Given the description of an element on the screen output the (x, y) to click on. 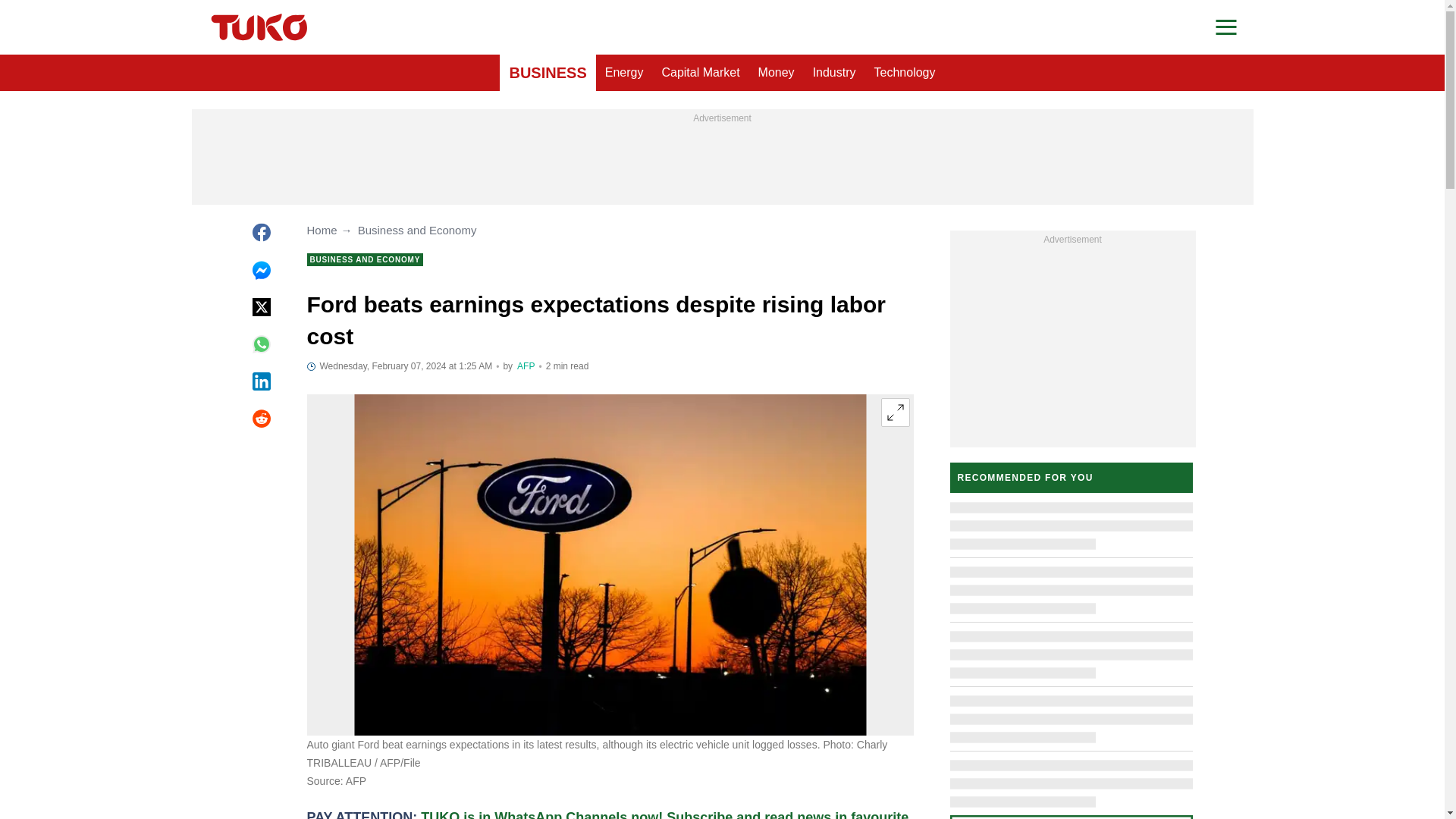
BUSINESS (547, 72)
Money (776, 72)
Expand image (895, 412)
Author page (525, 366)
Industry (833, 72)
Energy (623, 72)
Technology (904, 72)
Capital Market (700, 72)
